Given the description of an element on the screen output the (x, y) to click on. 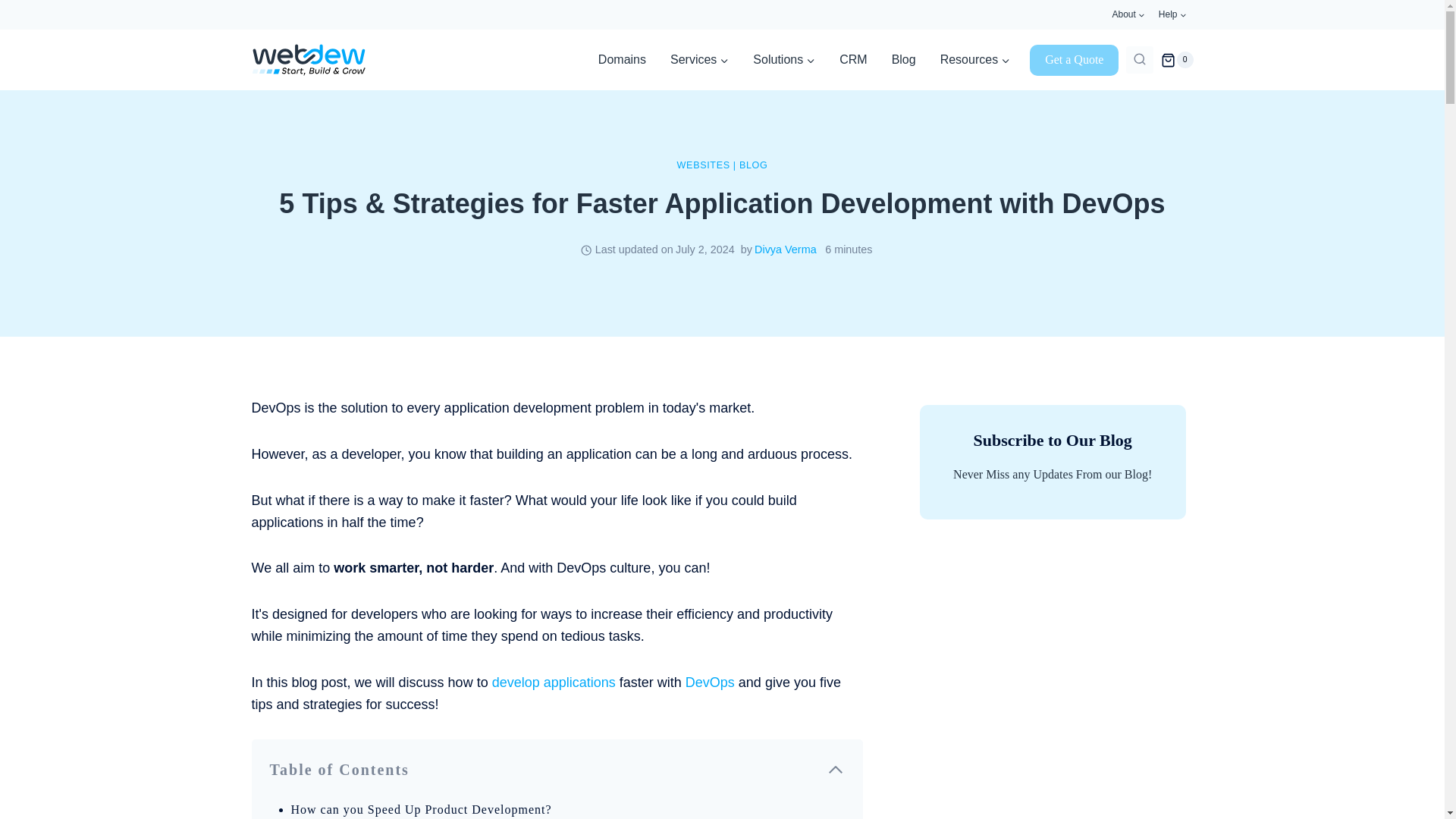
About (1128, 14)
Services (699, 59)
Domains (622, 59)
Help (1172, 14)
